Given the description of an element on the screen output the (x, y) to click on. 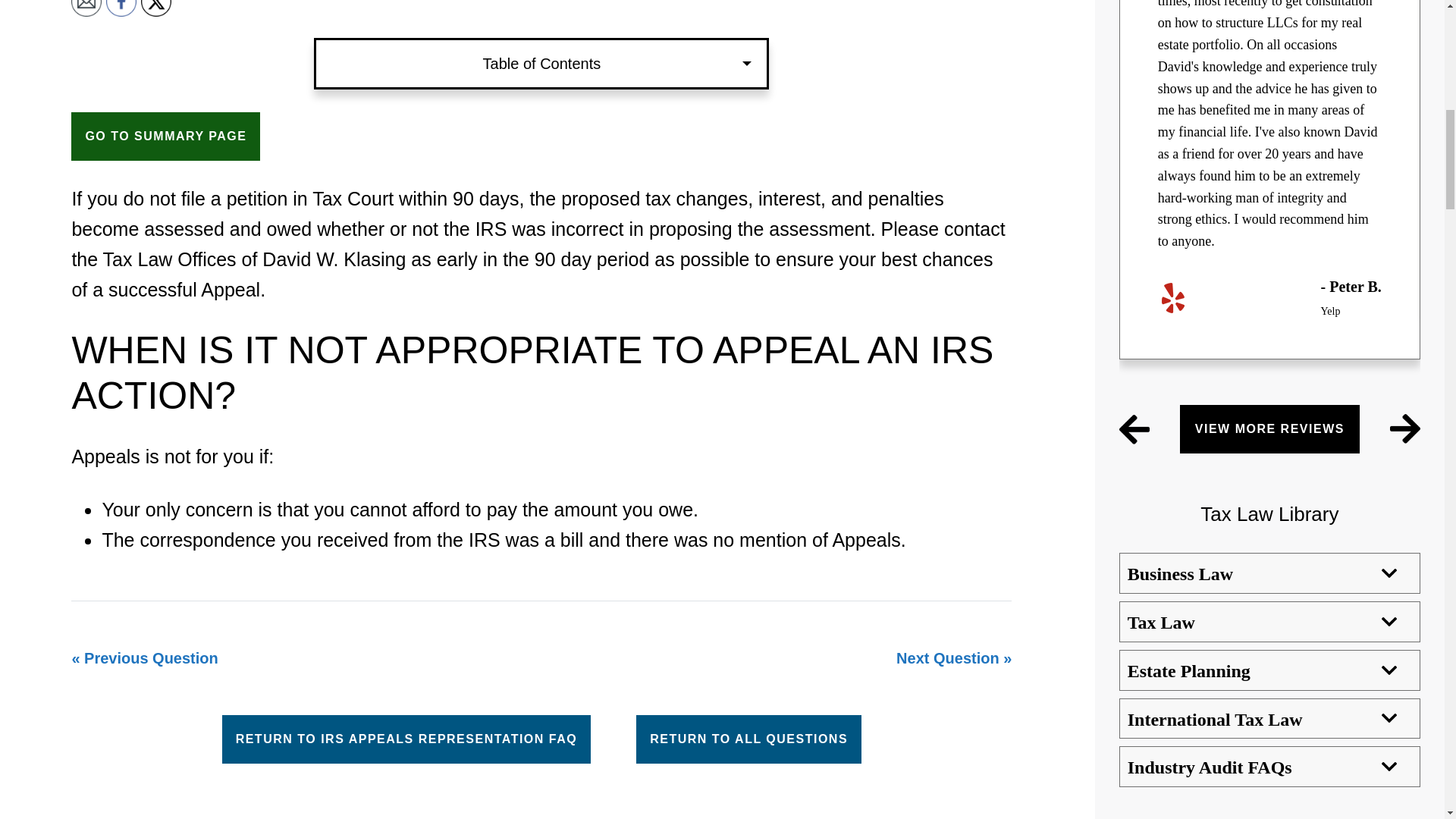
Follow by Email (86, 8)
Facebook (121, 8)
